Given the description of an element on the screen output the (x, y) to click on. 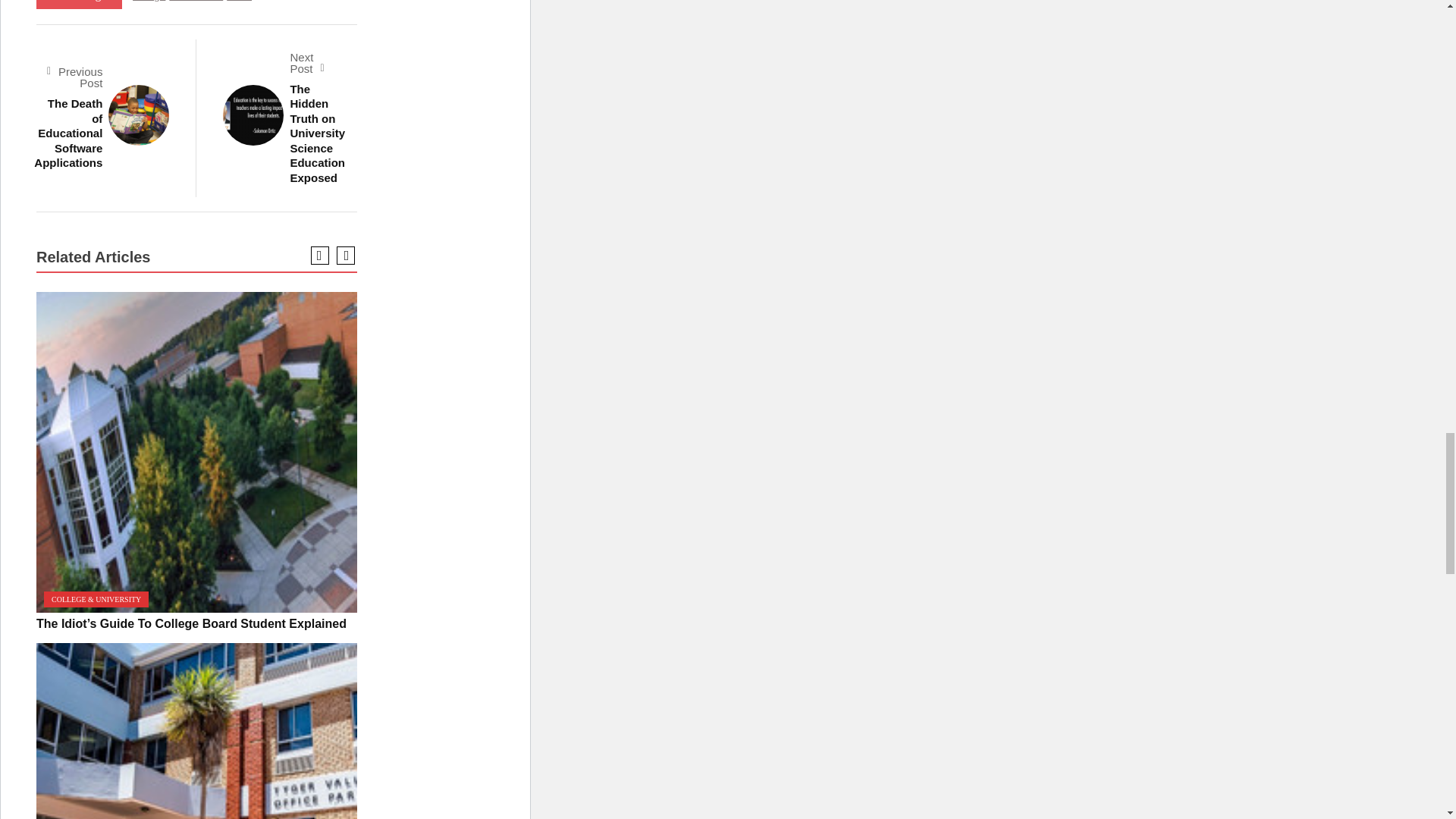
college (148, 0)
The Hidden Truth on University Science Education Exposed 4 (252, 115)
The Unexposed Secret of Science Education University (196, 730)
educational (195, 0)
The Death of Educational Software Applications 3 (137, 115)
